Given the description of an element on the screen output the (x, y) to click on. 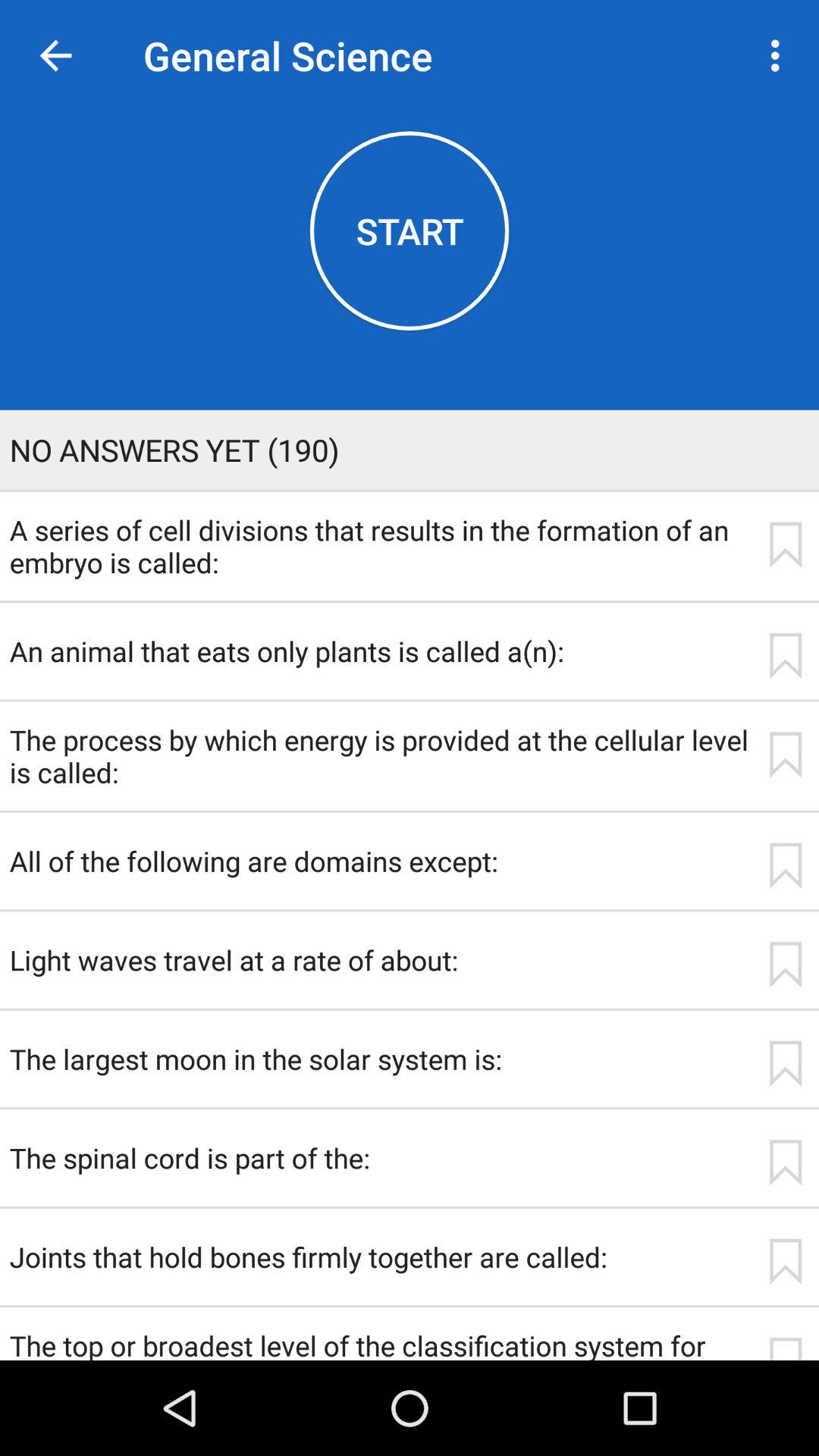
launch app next to the the process by app (784, 754)
